Given the description of an element on the screen output the (x, y) to click on. 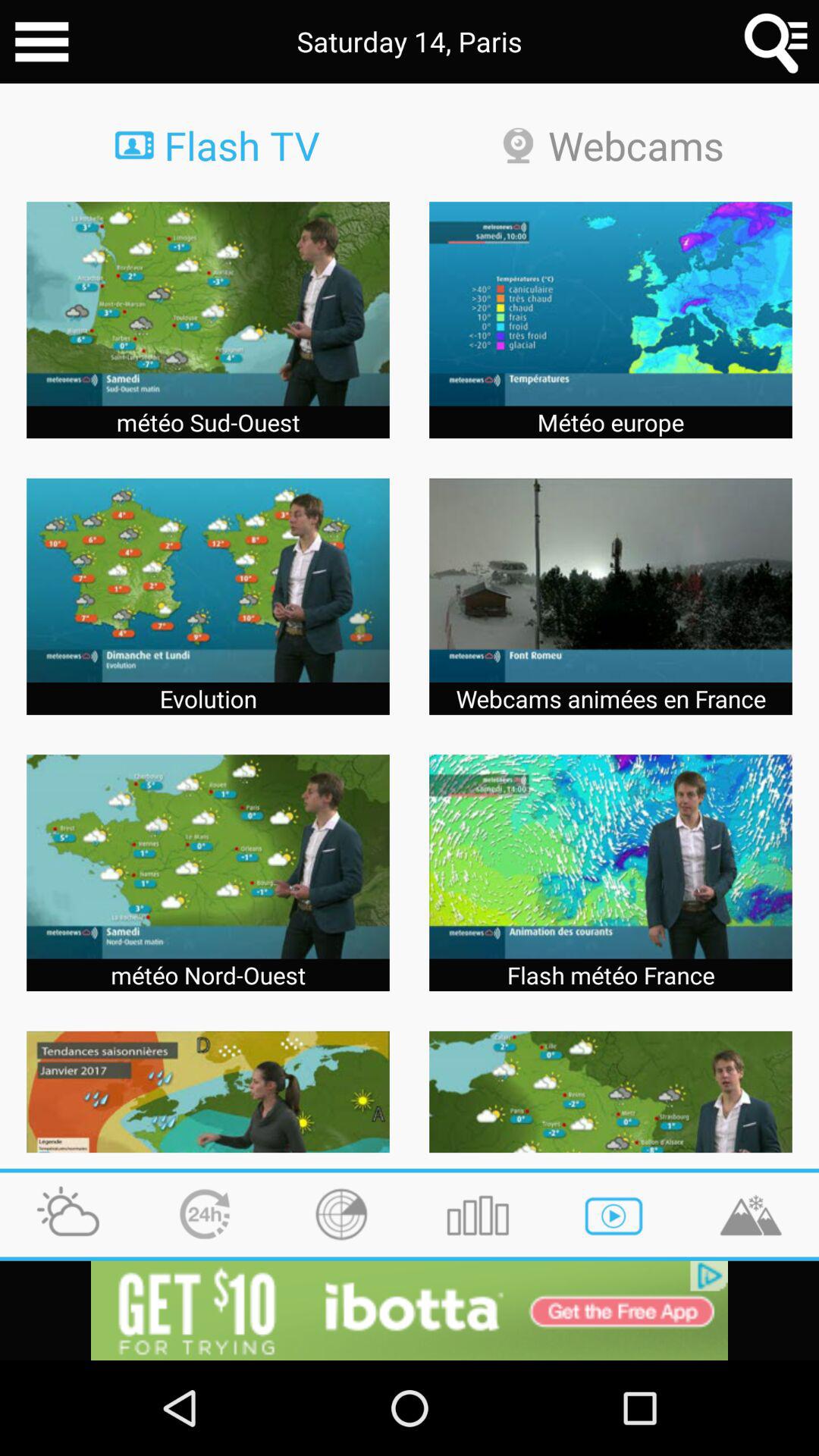
advertisement click option (409, 1310)
